Given the description of an element on the screen output the (x, y) to click on. 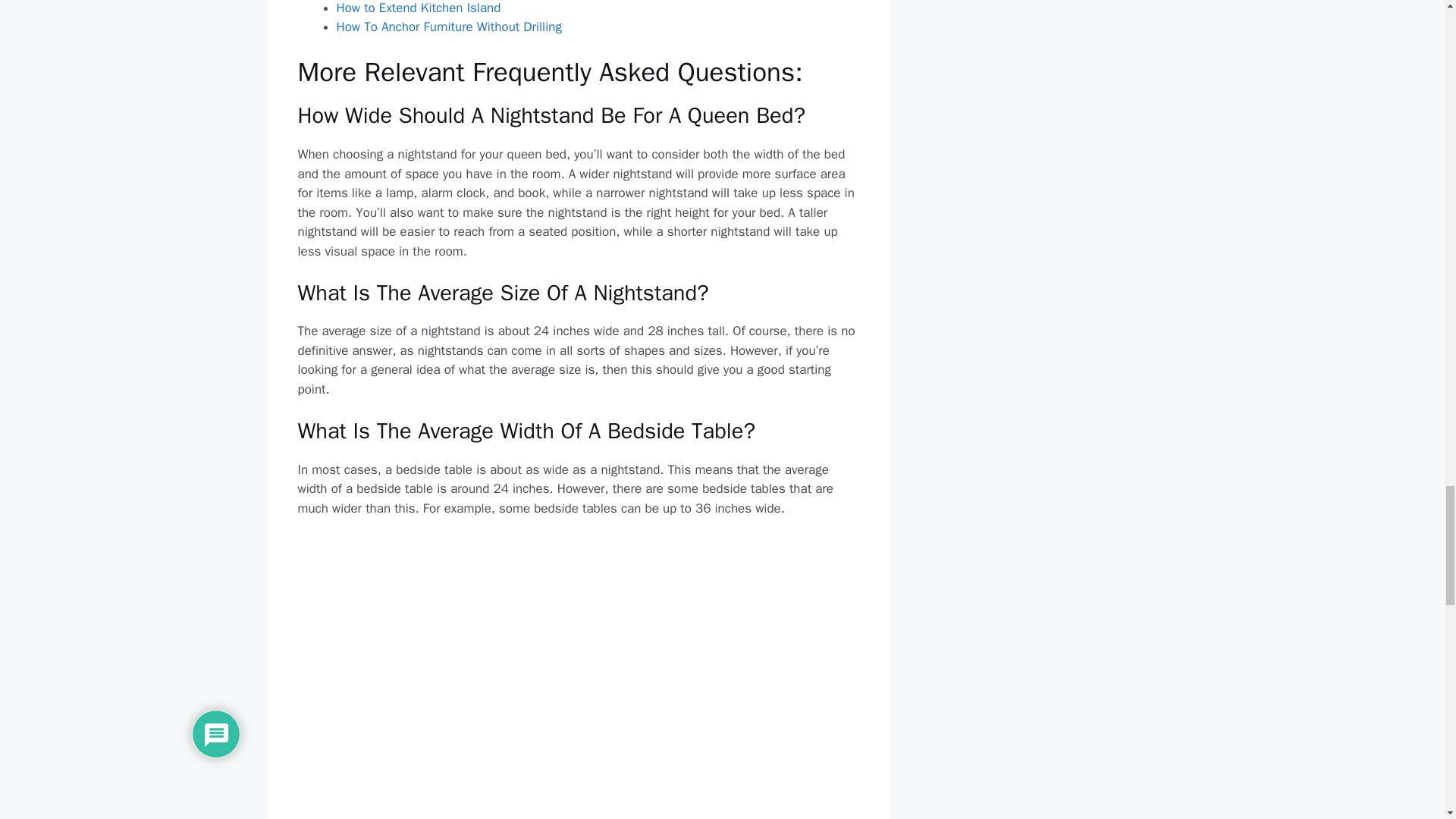
How to Extend Kitchen Island (418, 7)
How To Anchor Furniture Without Drilling (449, 26)
